Given the description of an element on the screen output the (x, y) to click on. 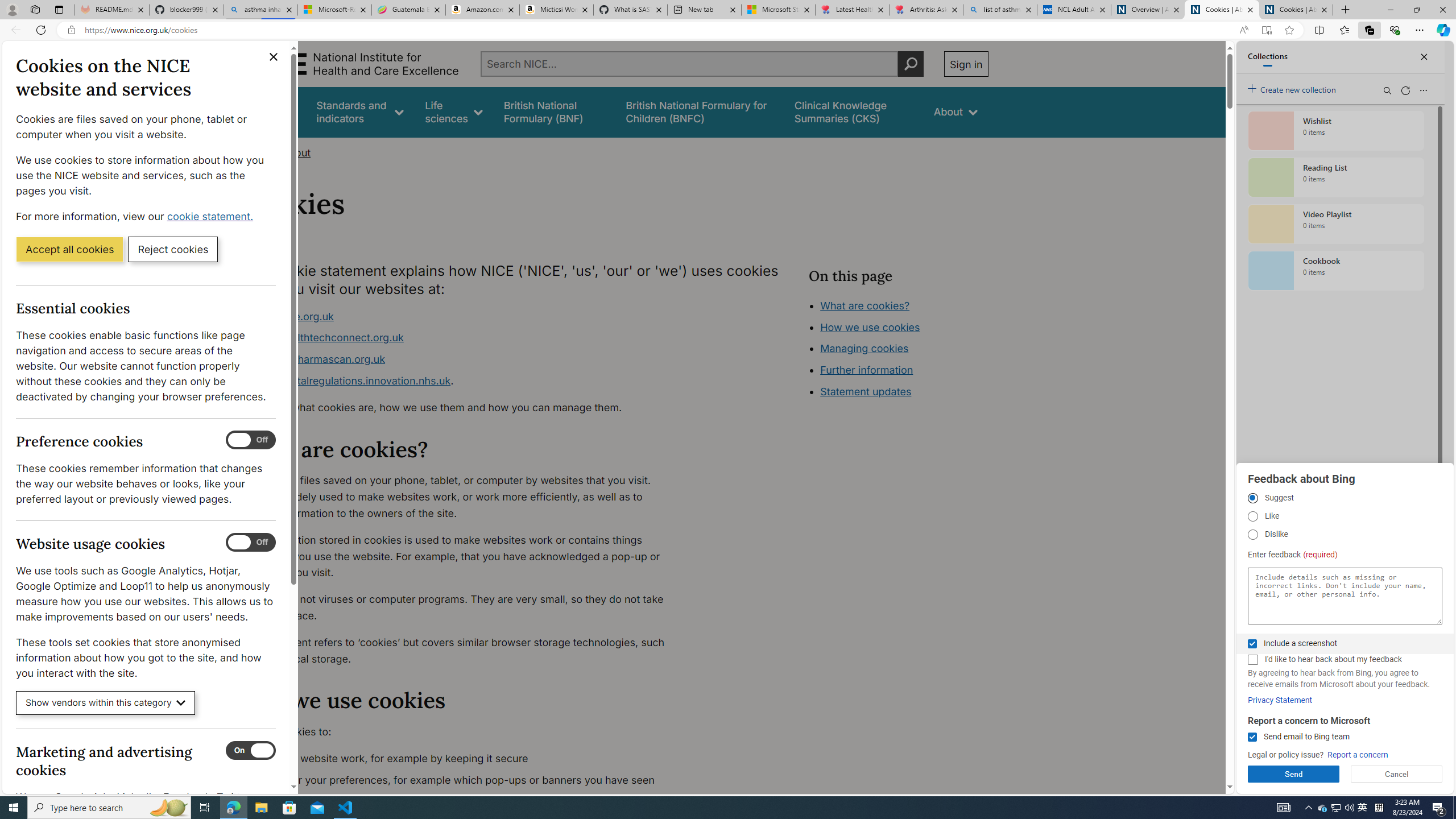
Privacy Statement (1280, 700)
Report a concern (1358, 755)
Managing cookies (863, 348)
www.digitalregulations.innovation.nhs.uk (351, 380)
